Given the description of an element on the screen output the (x, y) to click on. 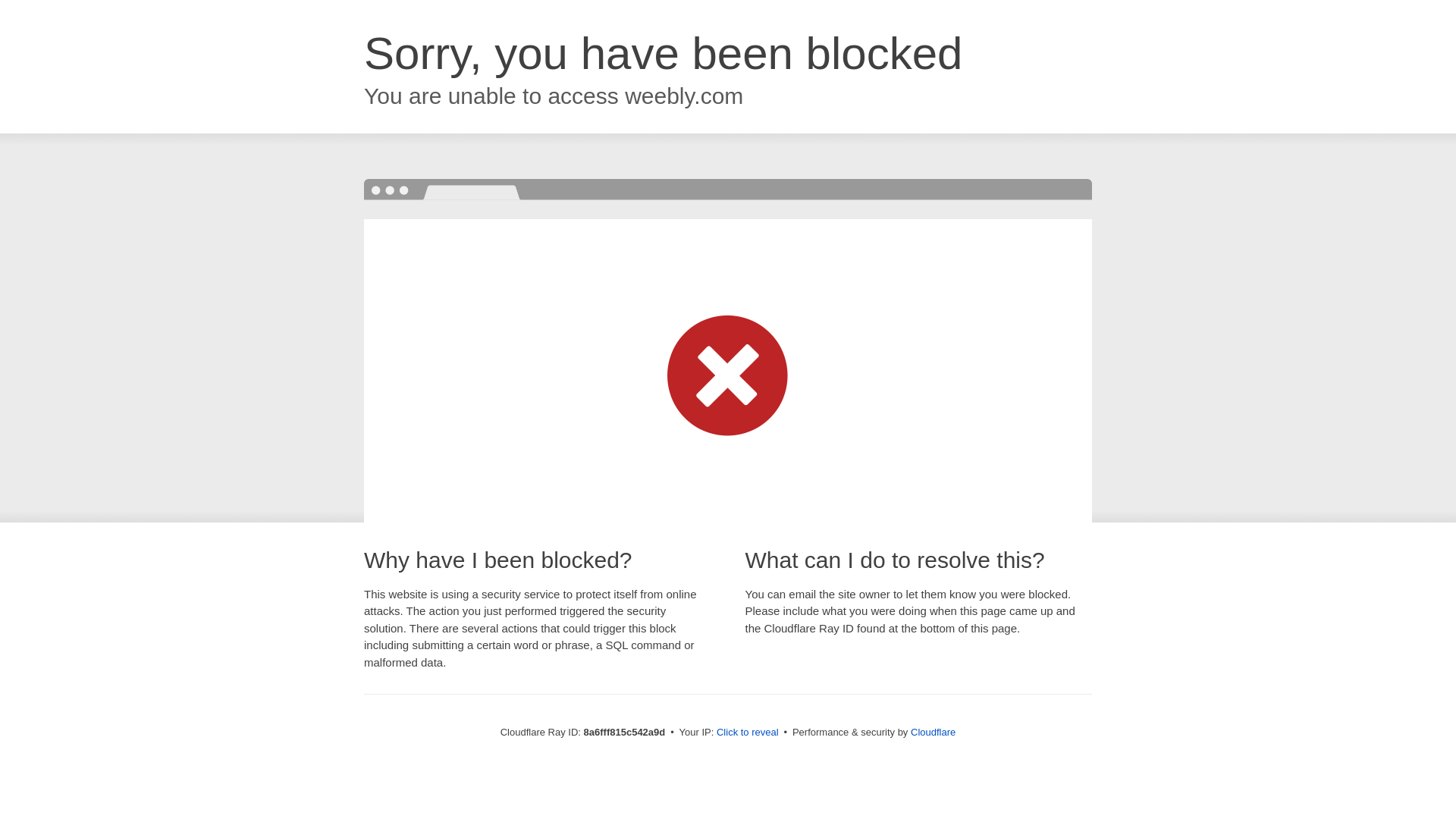
Cloudflare (933, 731)
Click to reveal (747, 732)
